Given the description of an element on the screen output the (x, y) to click on. 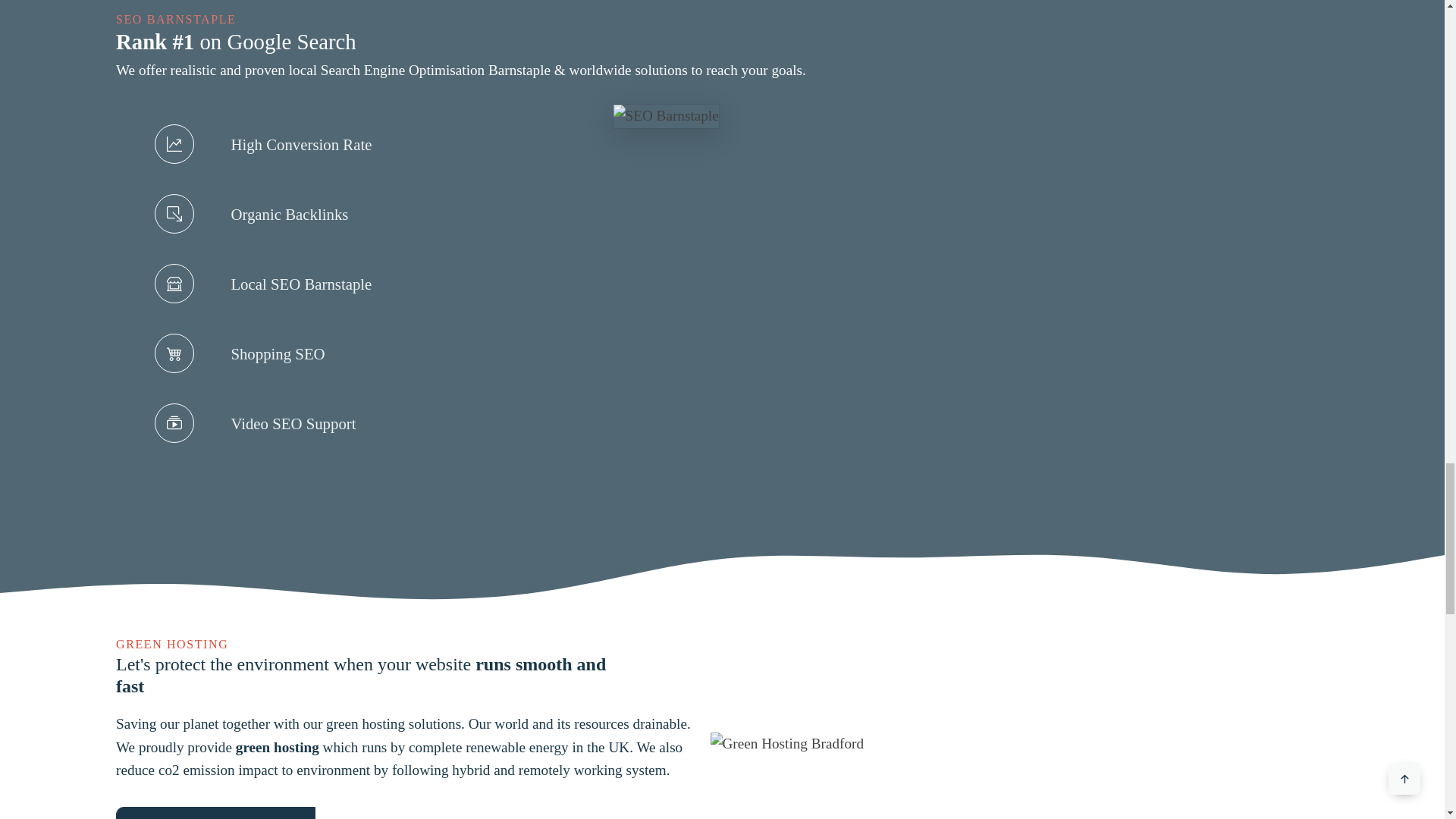
Learn more about green hosting (215, 812)
